Given the description of an element on the screen output the (x, y) to click on. 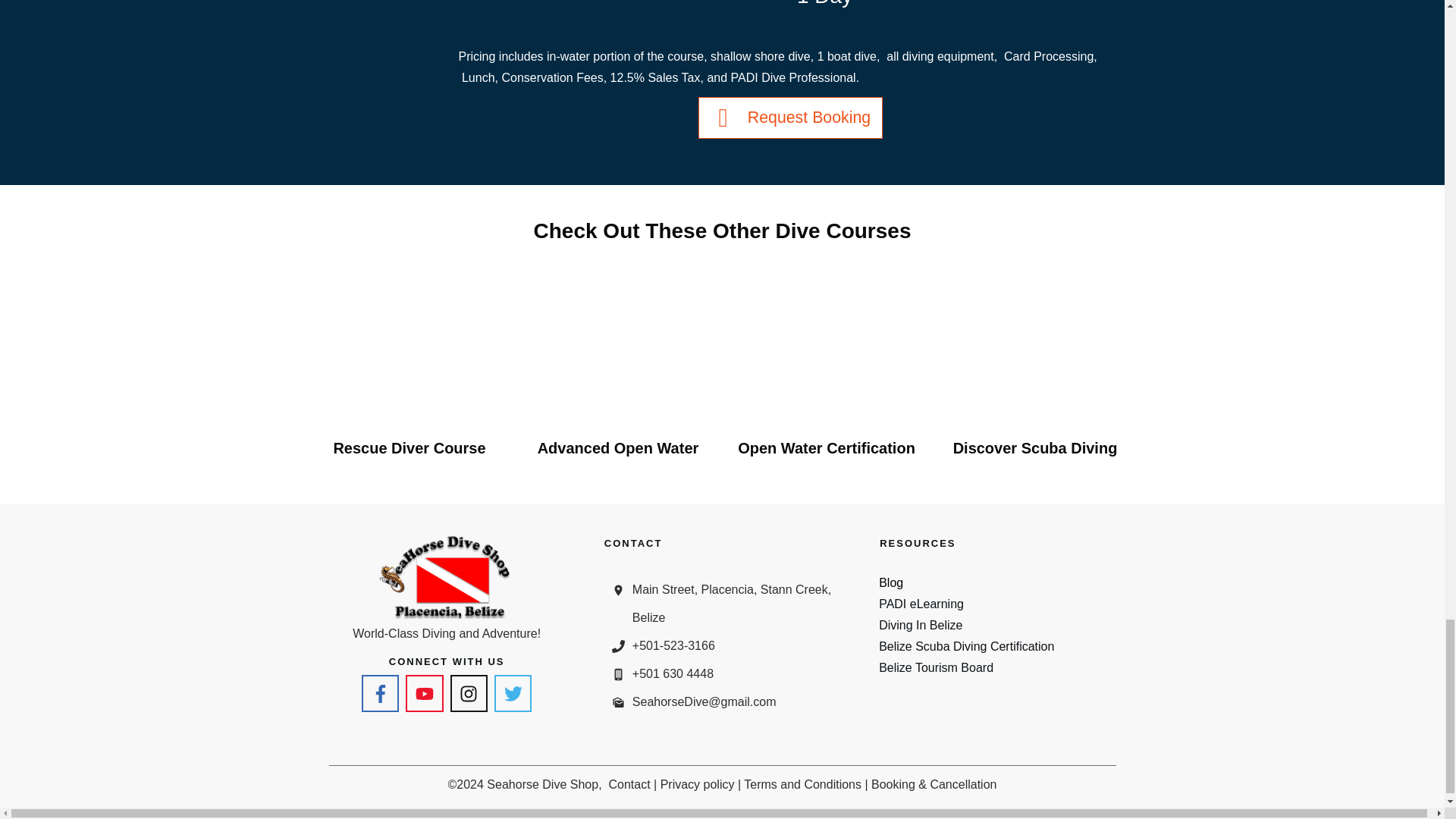
Rescue Diver Course (408, 447)
Advanced Open Water (617, 447)
Open Water Certification (826, 447)
Discover Scuba Diving (1035, 447)
